Given the description of an element on the screen output the (x, y) to click on. 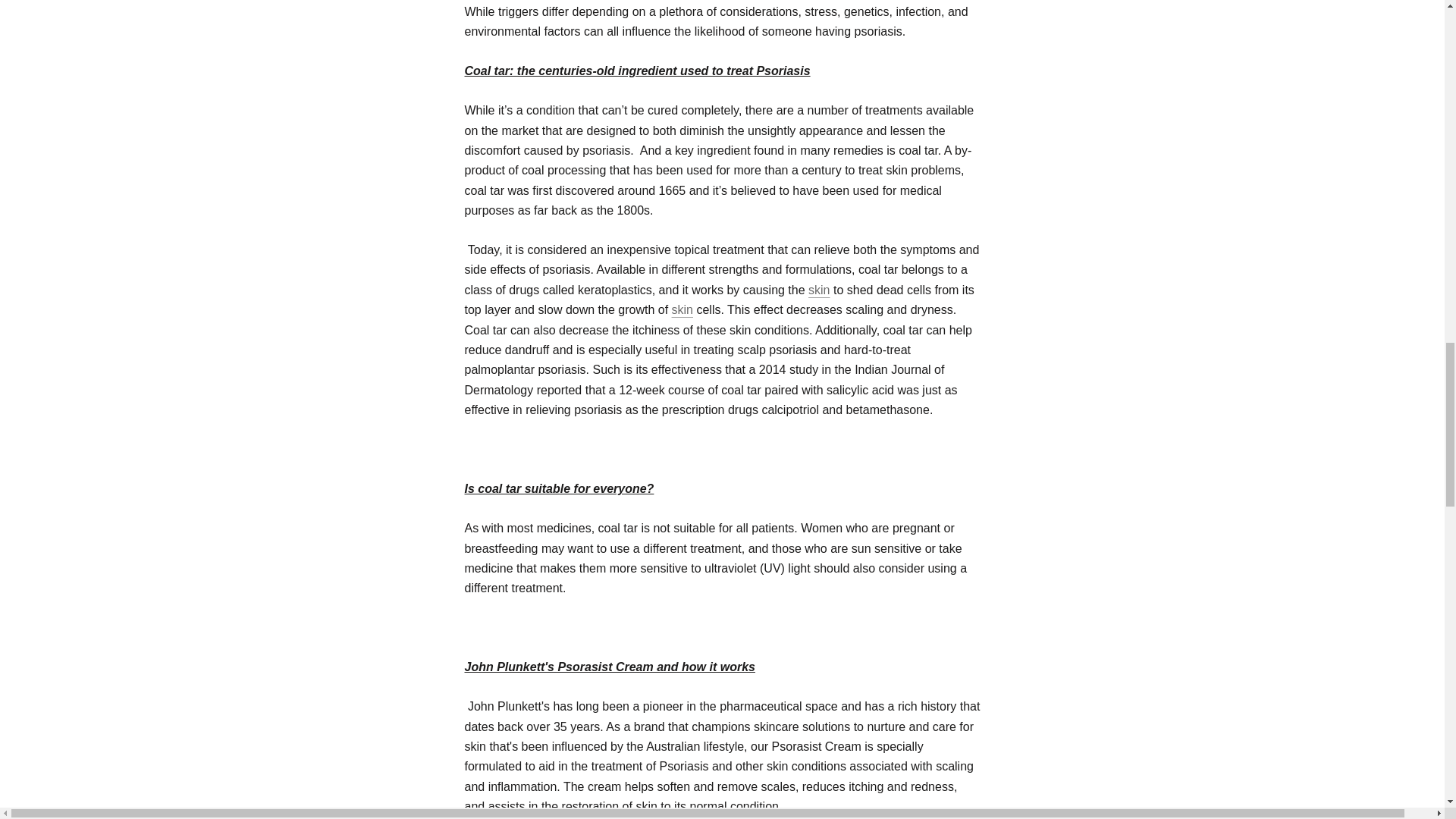
Click to open in new window (682, 309)
Click to open in new window (818, 289)
